Given the description of an element on the screen output the (x, y) to click on. 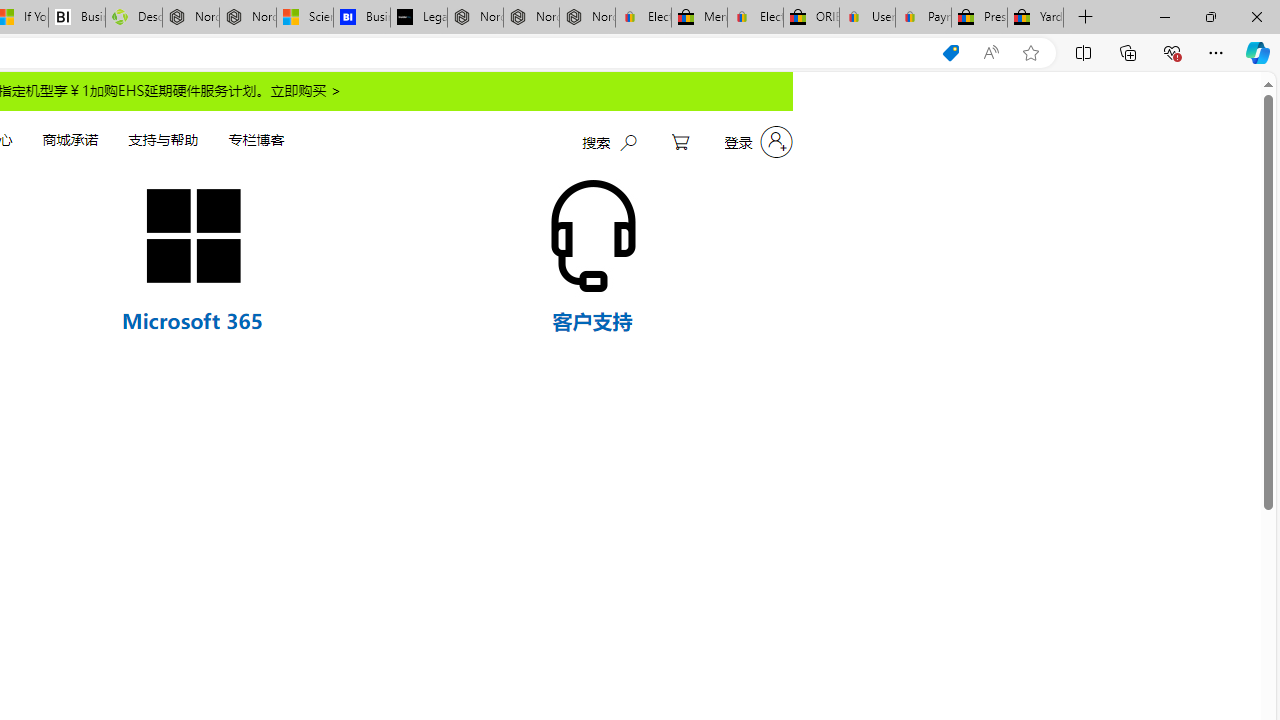
My Cart (679, 142)
